Given the description of an element on the screen output the (x, y) to click on. 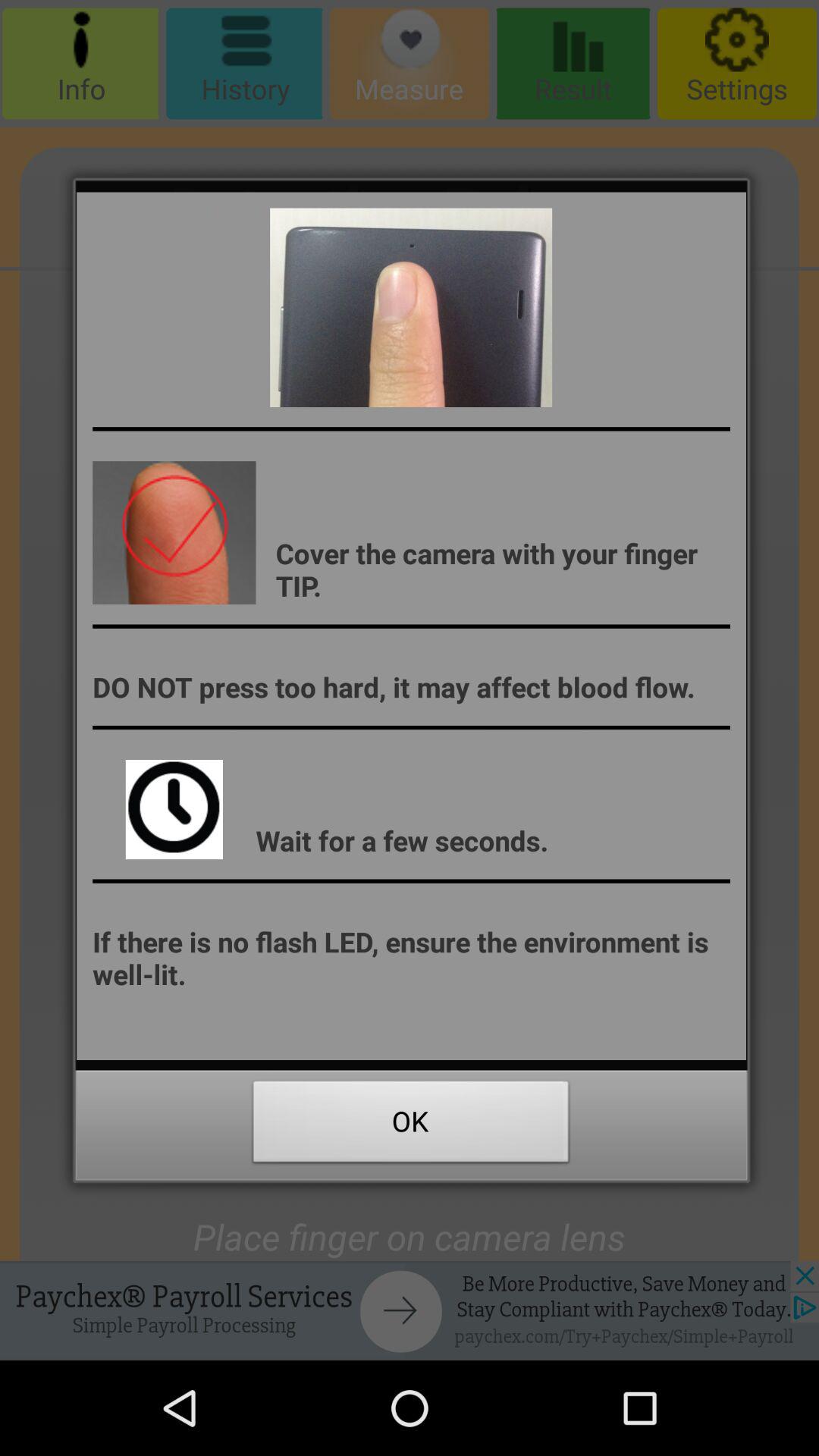
select the ok (410, 1125)
